Given the description of an element on the screen output the (x, y) to click on. 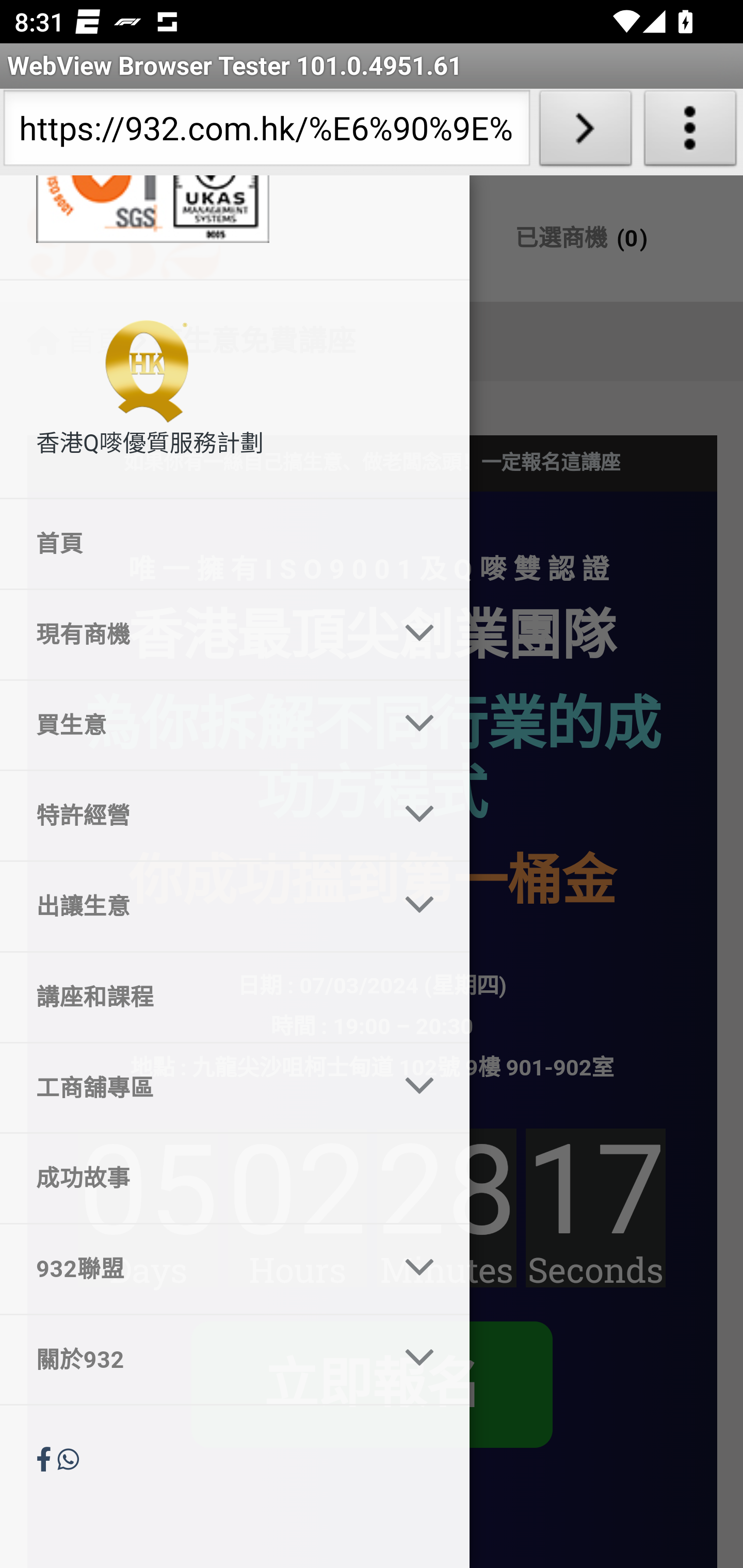
Load URL (585, 132)
About WebView (690, 132)
首頁 (234, 544)
現有商機 (190, 634)
Toggle (420, 633)
買生意 (190, 725)
Toggle (420, 725)
特許經營 (190, 815)
Toggle (420, 815)
出讓生意 (190, 905)
Toggle (420, 906)
講座和課程 (234, 996)
工商舖專區 (190, 1087)
Toggle (420, 1087)
成功故事 (234, 1178)
932聯盟 (190, 1268)
Toggle (420, 1270)
關於932 (190, 1358)
Toggle (420, 1359)
 (46, 1459)
 (67, 1459)
